Given the description of an element on the screen output the (x, y) to click on. 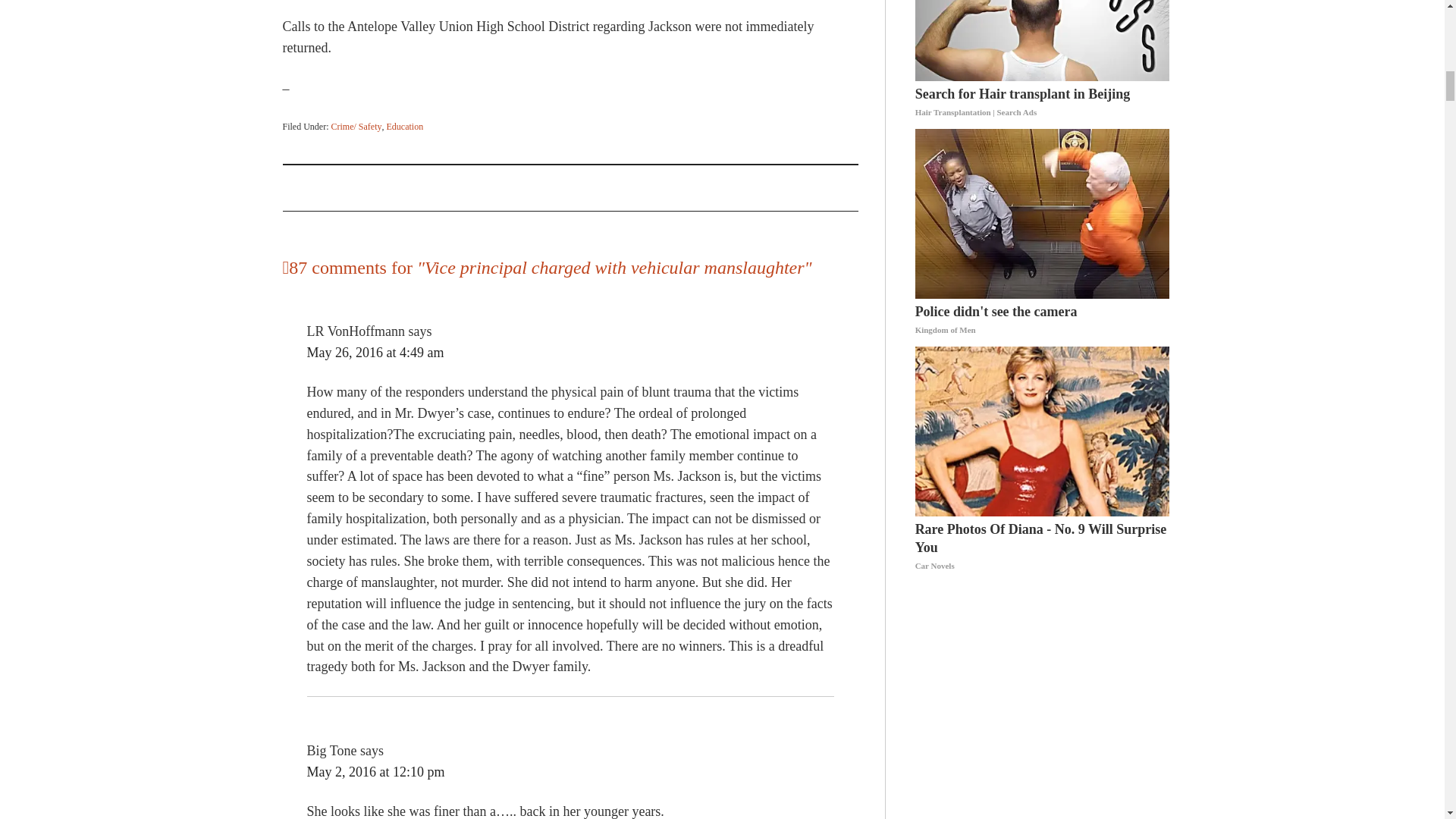
Rare Photos Of Diana - No. 9 Will Surprise You (1042, 547)
Education (404, 126)
May 26, 2016 at 4:49 am (374, 352)
Search for Hair transplant in Beijing (1042, 103)
May 2, 2016 at 12:10 pm (374, 771)
Police didn't see the camera (1042, 320)
